Given the description of an element on the screen output the (x, y) to click on. 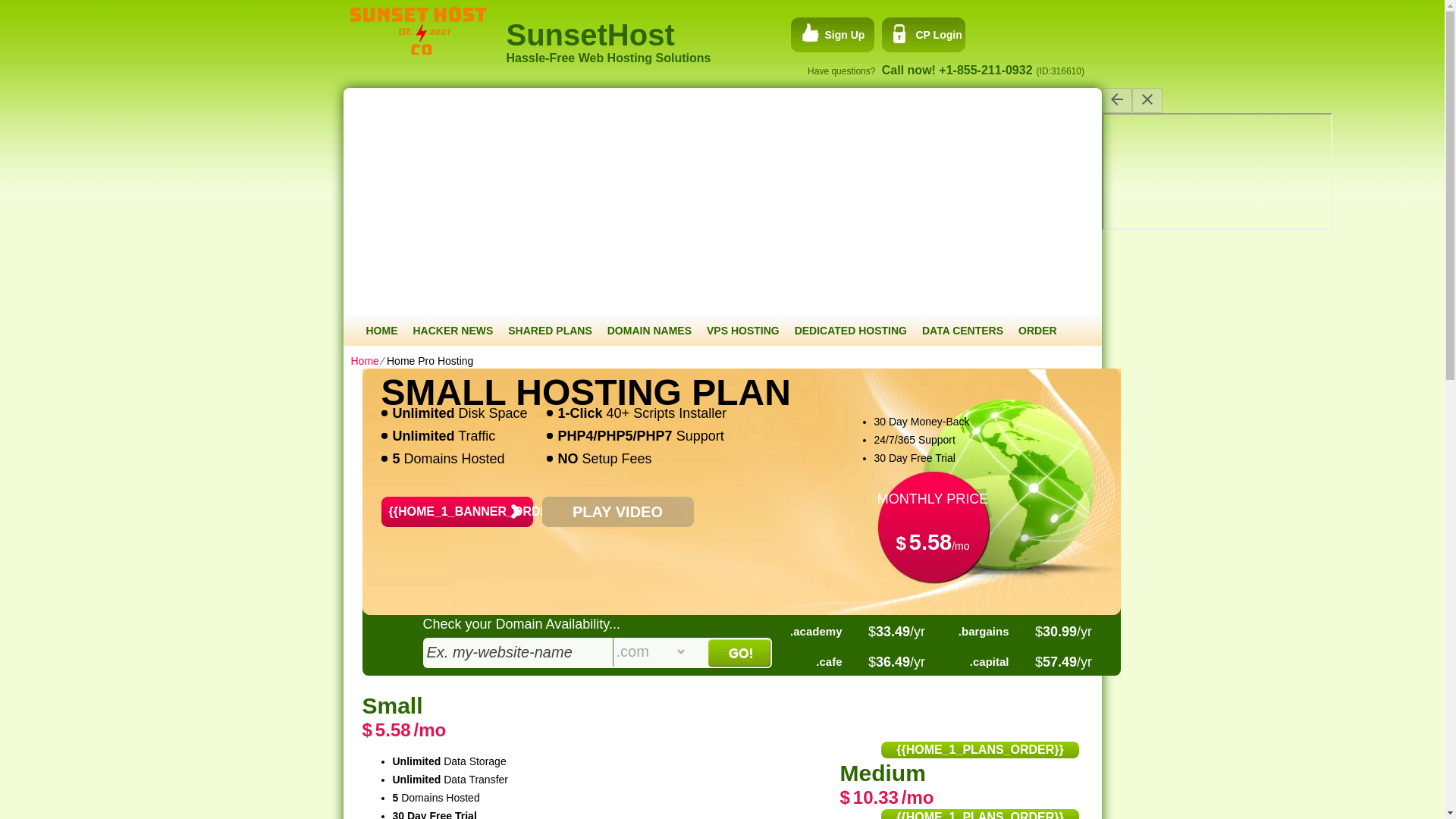
text (517, 652)
sign up (827, 34)
SunsetHost (724, 26)
client login (920, 34)
DEDICATED HOSTING (850, 330)
HACKER NEWS (452, 330)
Ex. my-website-name (517, 652)
VPS HOSTING (742, 330)
HOME (381, 330)
Home (364, 360)
Small (392, 705)
Sign Up (827, 34)
PLAY VIDEO (617, 511)
DATA CENTERS (962, 330)
